Given the description of an element on the screen output the (x, y) to click on. 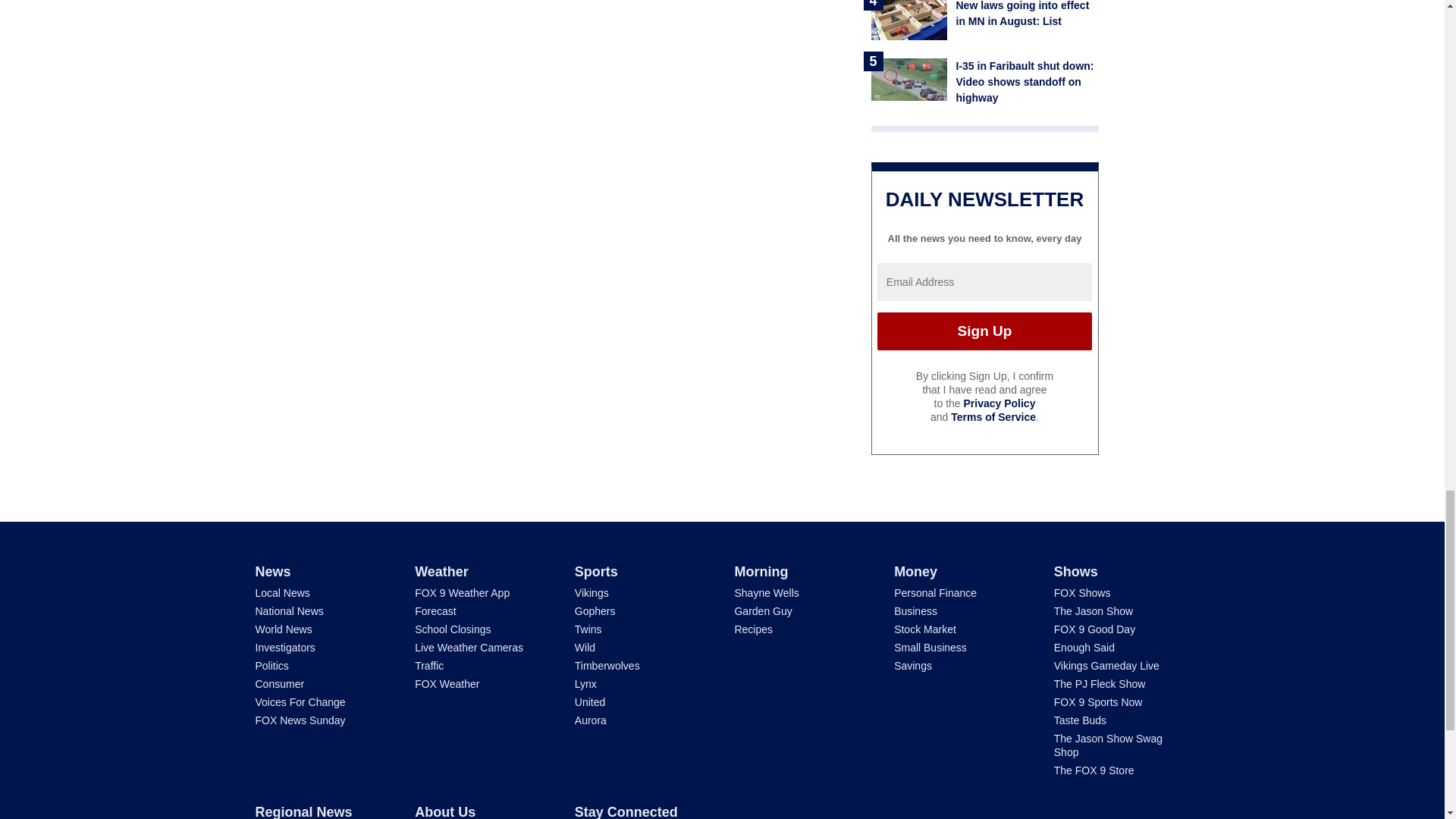
Sign Up (984, 331)
